Given the description of an element on the screen output the (x, y) to click on. 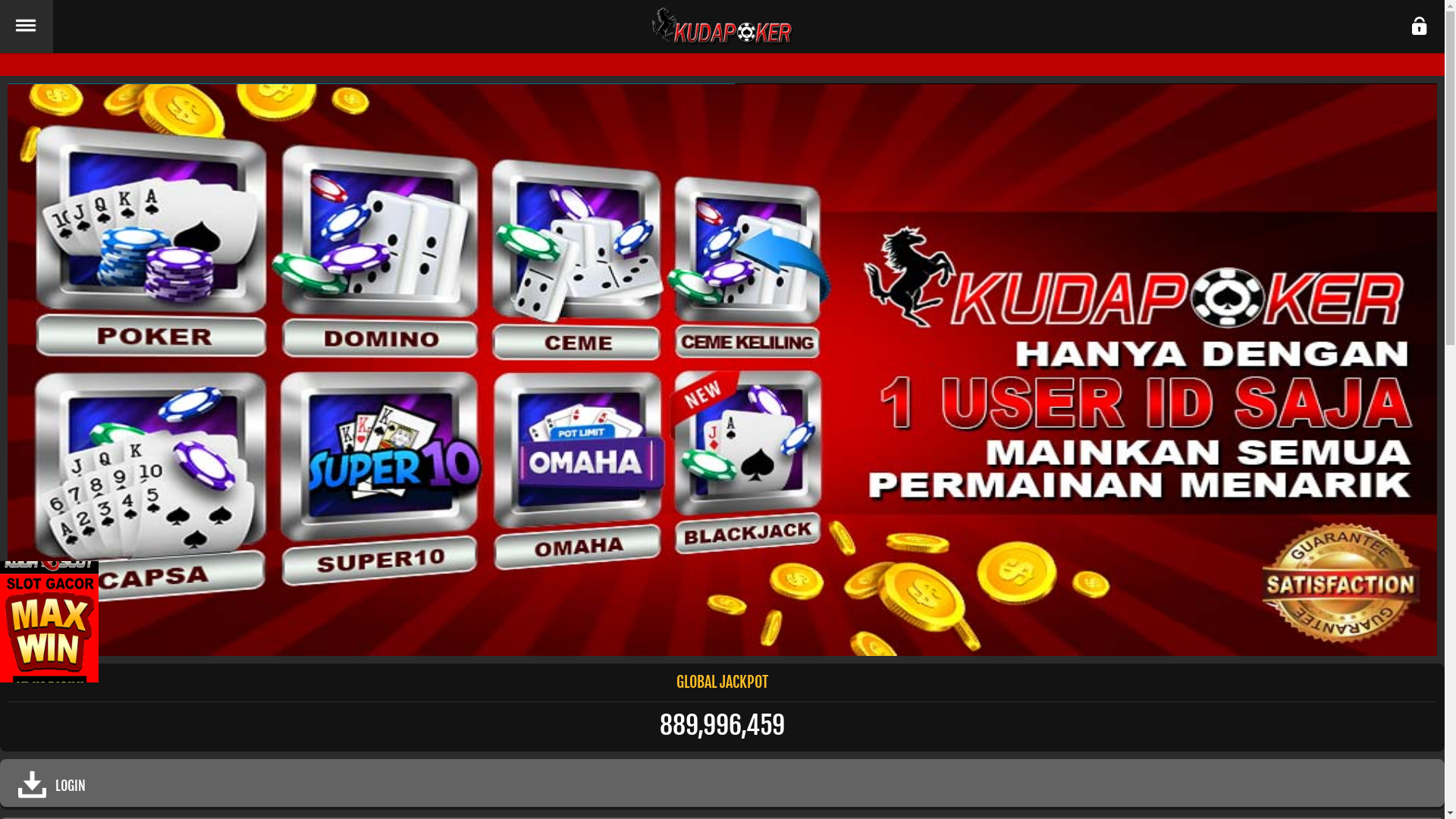
Next item in carousel (1 of 1) Element type: hover (1424, 370)
LOGIN Element type: text (722, 784)
Previous item in carousel (1 of 1) Element type: hover (19, 370)
